Given the description of an element on the screen output the (x, y) to click on. 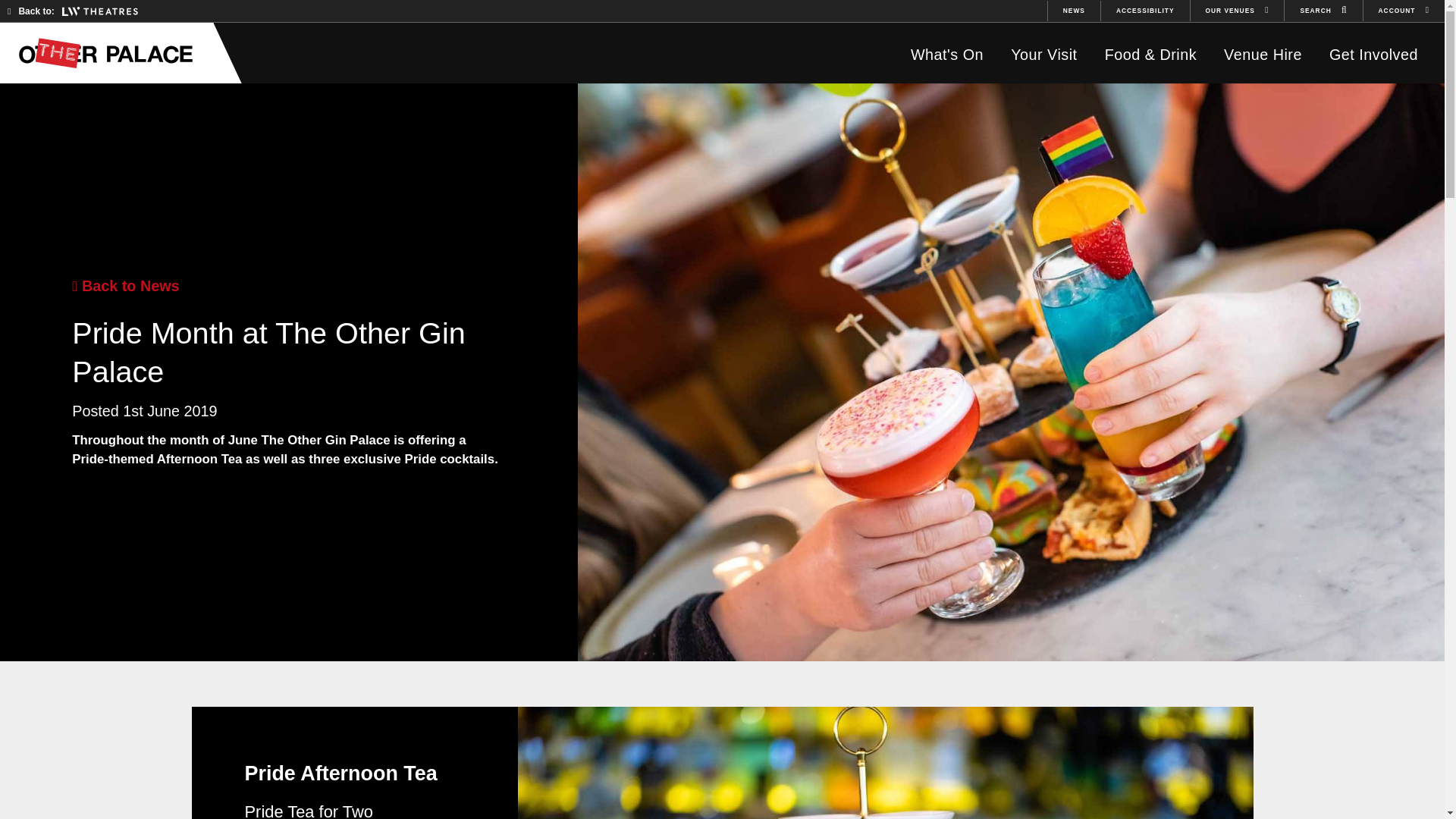
Get Involved (1373, 54)
What's On (946, 54)
ACCESSIBILITY (1144, 10)
Your Visit (1042, 54)
NEWS (1074, 10)
Venue Hire (1262, 54)
OUR VENUES (1237, 10)
Back to: (72, 10)
The Other Palace Theatre (113, 52)
Back to News (125, 285)
